Given the description of an element on the screen output the (x, y) to click on. 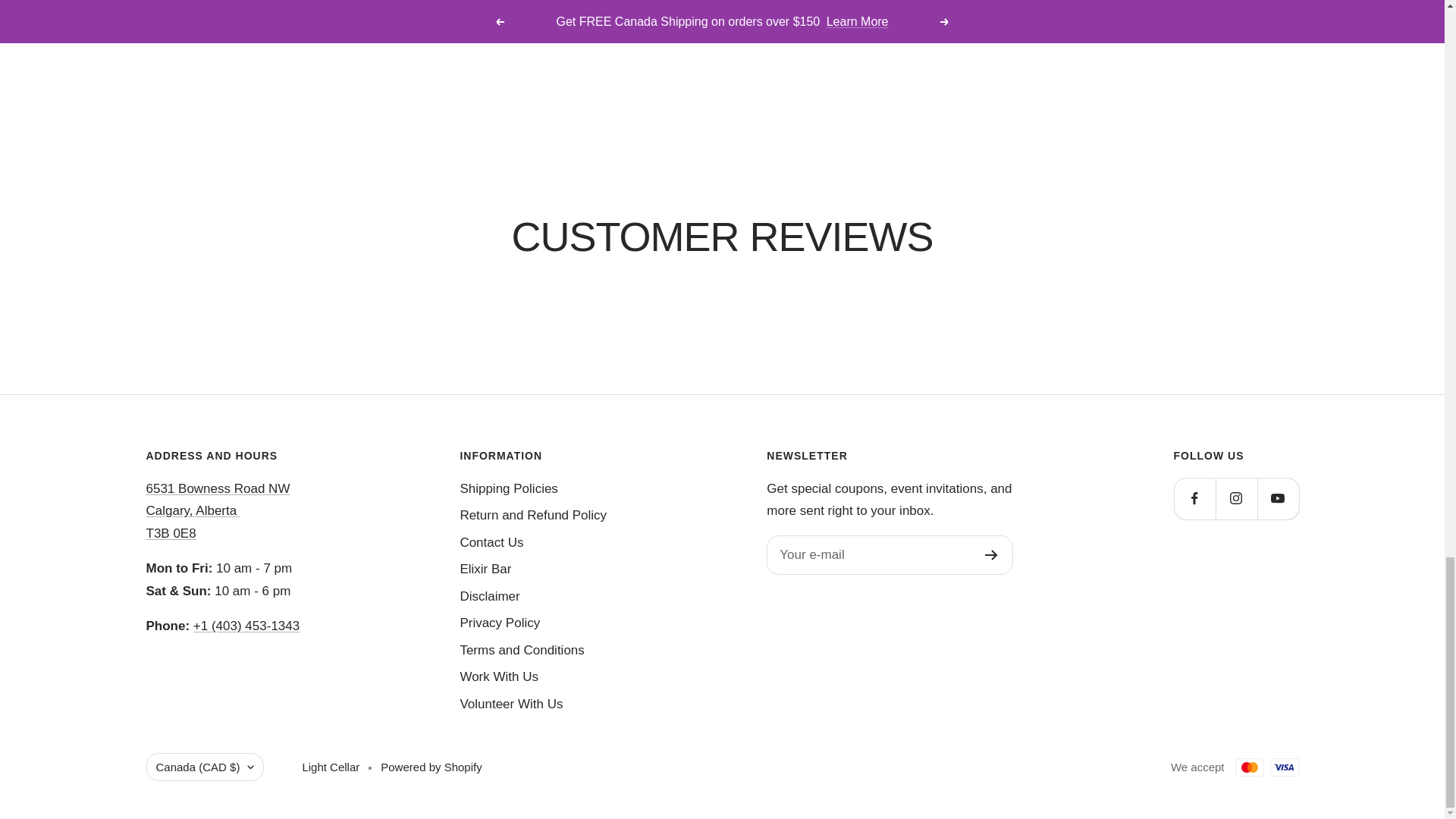
Register (991, 554)
tel:14034531343 (246, 626)
